Given the description of an element on the screen output the (x, y) to click on. 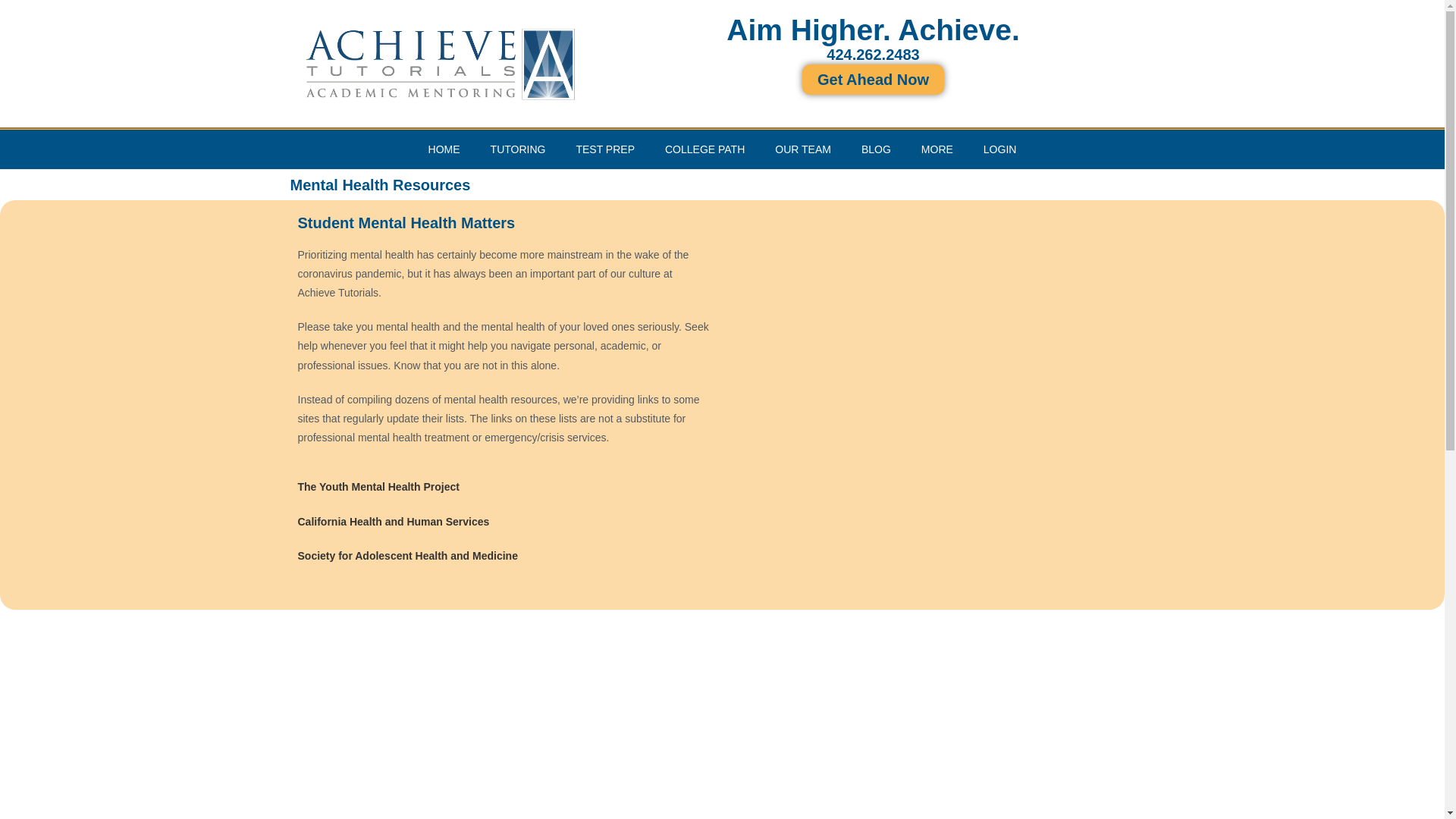
LOGIN (1000, 149)
Get Ahead Now (872, 79)
BLOG (875, 149)
TUTORING (518, 149)
Aim Higher. Achieve. (873, 29)
MORE (936, 149)
The Youth Mental Health Project (377, 486)
TEST PREP (604, 149)
HOME (444, 149)
OUR TEAM (802, 149)
